Given the description of an element on the screen output the (x, y) to click on. 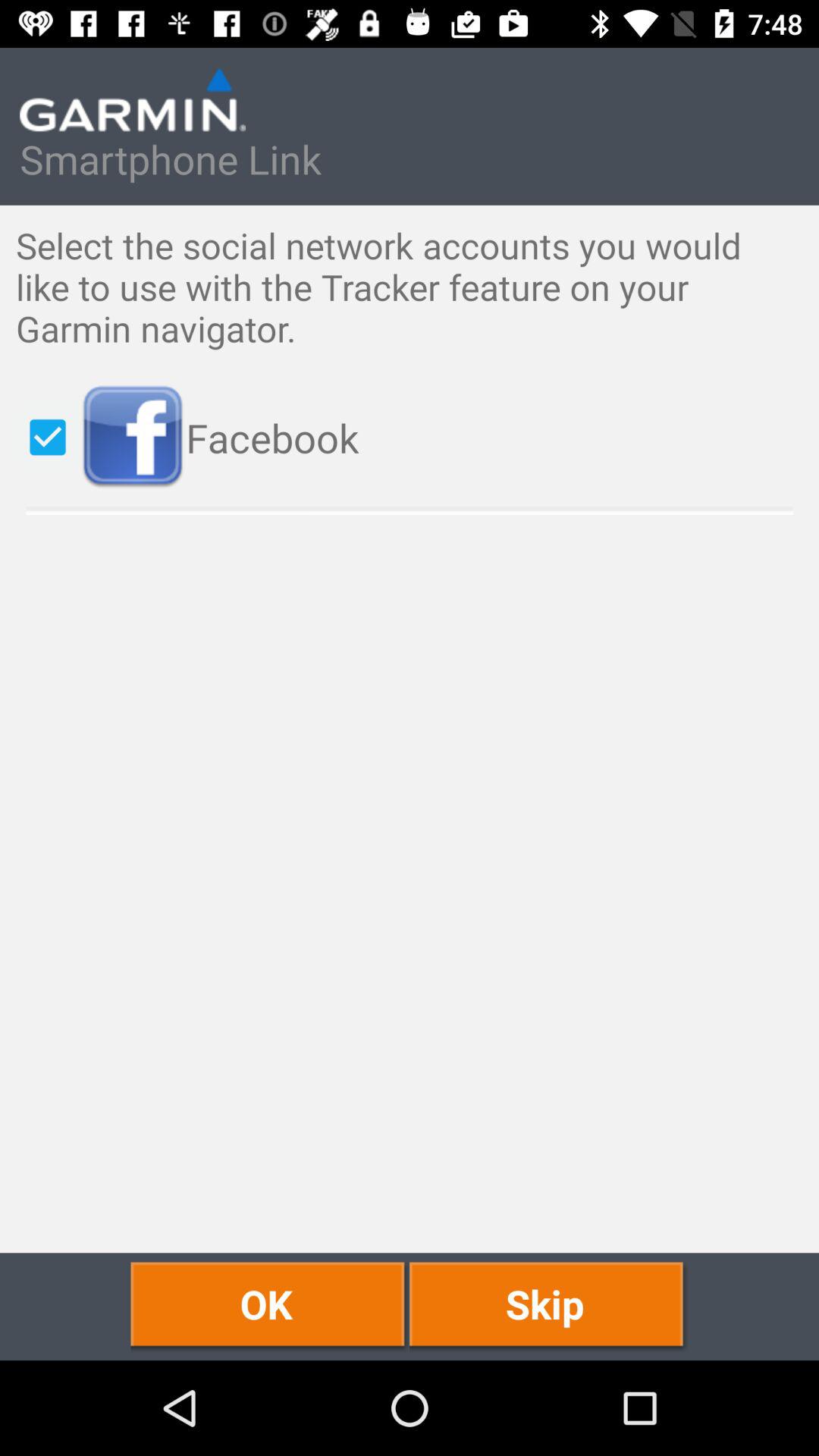
turn on skip at the bottom right corner (548, 1306)
